Given the description of an element on the screen output the (x, y) to click on. 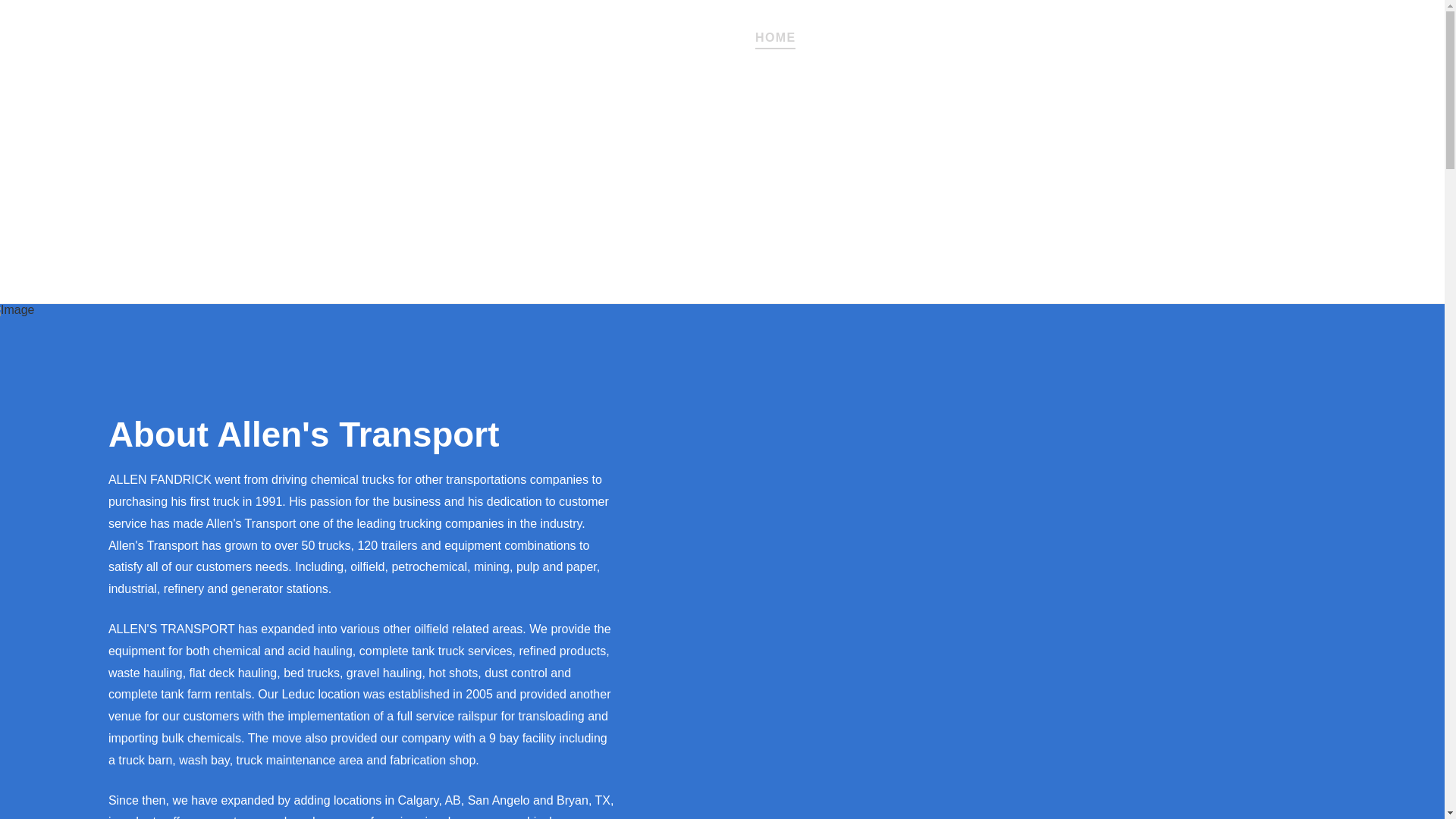
HOME Element type: text (774, 34)
SAFETY Element type: text (1057, 34)
OUR SERVICES Element type: text (868, 34)
JOBS Element type: text (1124, 34)
CONTACT Element type: text (975, 34)
